Given the description of an element on the screen output the (x, y) to click on. 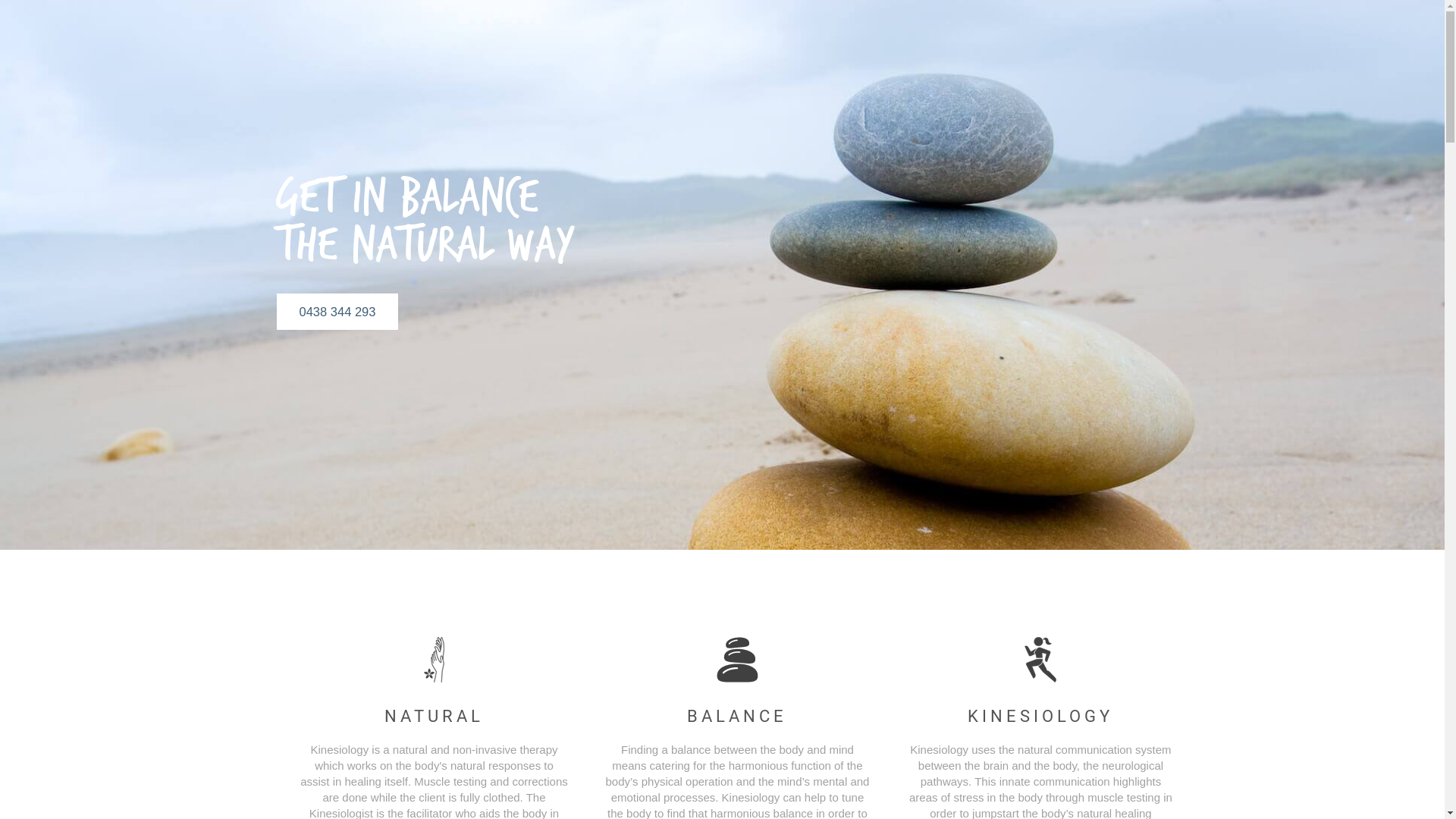
0438 344 293 Element type: text (337, 311)
